Given the description of an element on the screen output the (x, y) to click on. 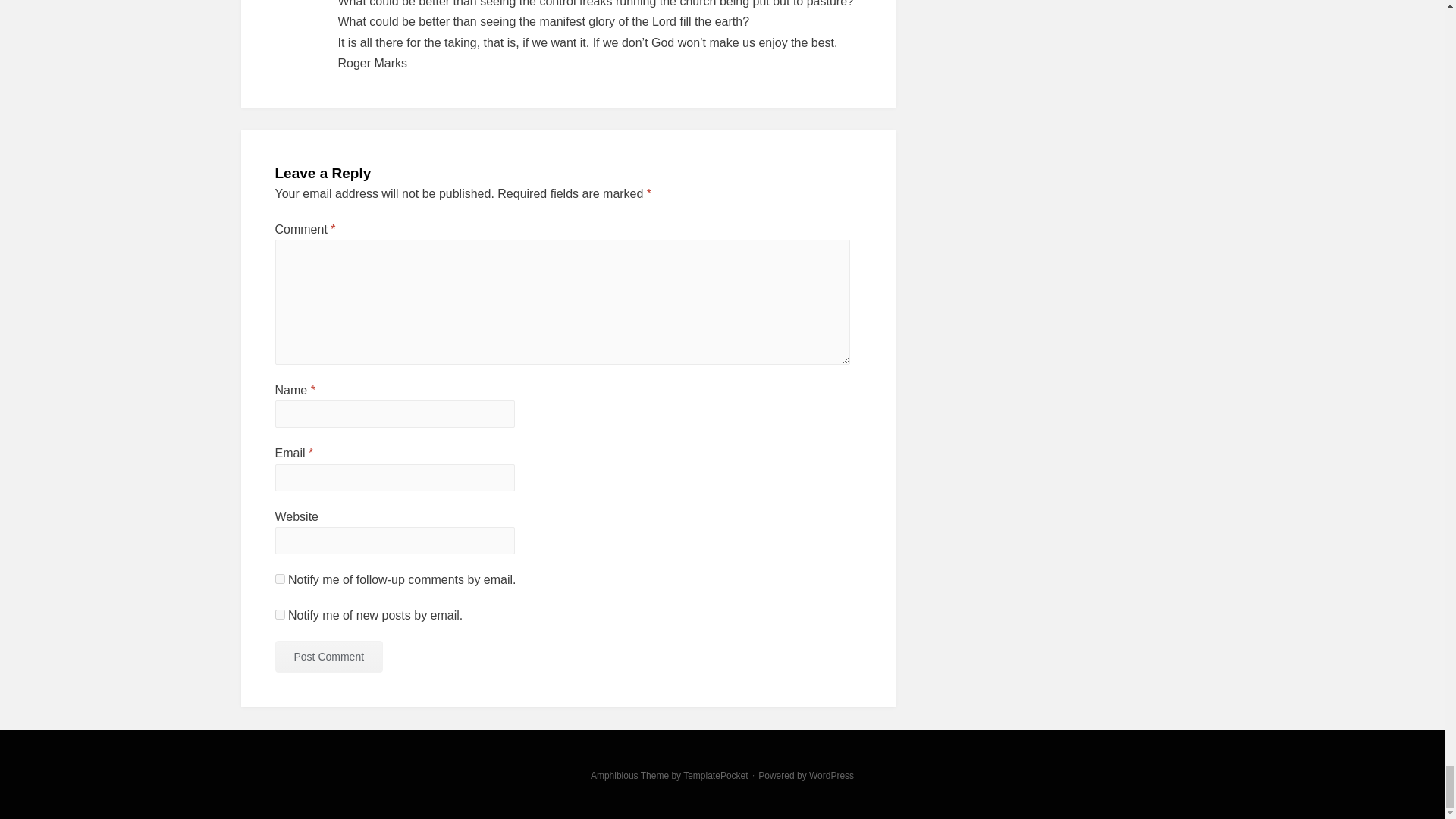
Post Comment (328, 656)
subscribe (279, 614)
subscribe (279, 578)
